Given the description of an element on the screen output the (x, y) to click on. 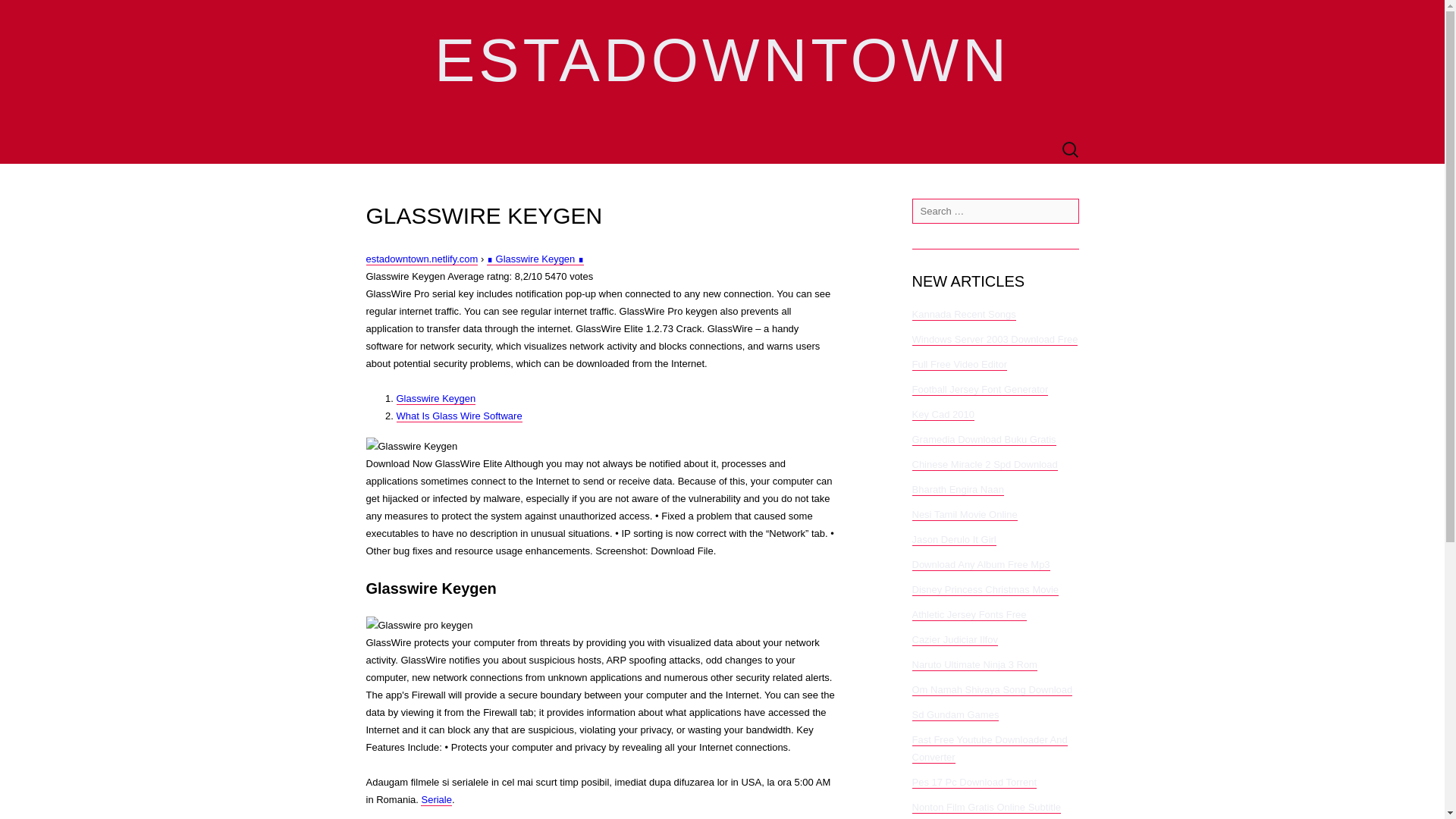
Download Any Album Free Mp3 (980, 564)
Windows Server 2003 Download Free (994, 339)
Fast Free Youtube Downloader And Converter (989, 748)
ESTADOWNTOWN (722, 68)
Bharath Engira Naan (957, 490)
Sd Gundam Games (954, 715)
Pes 17 Pc Download Torrent (973, 782)
Nonton Film Gratis Online Subtitle Indonesia (986, 810)
Glasswire Keygen (411, 446)
Football Jersey Font Generator (979, 389)
